Given the description of an element on the screen output the (x, y) to click on. 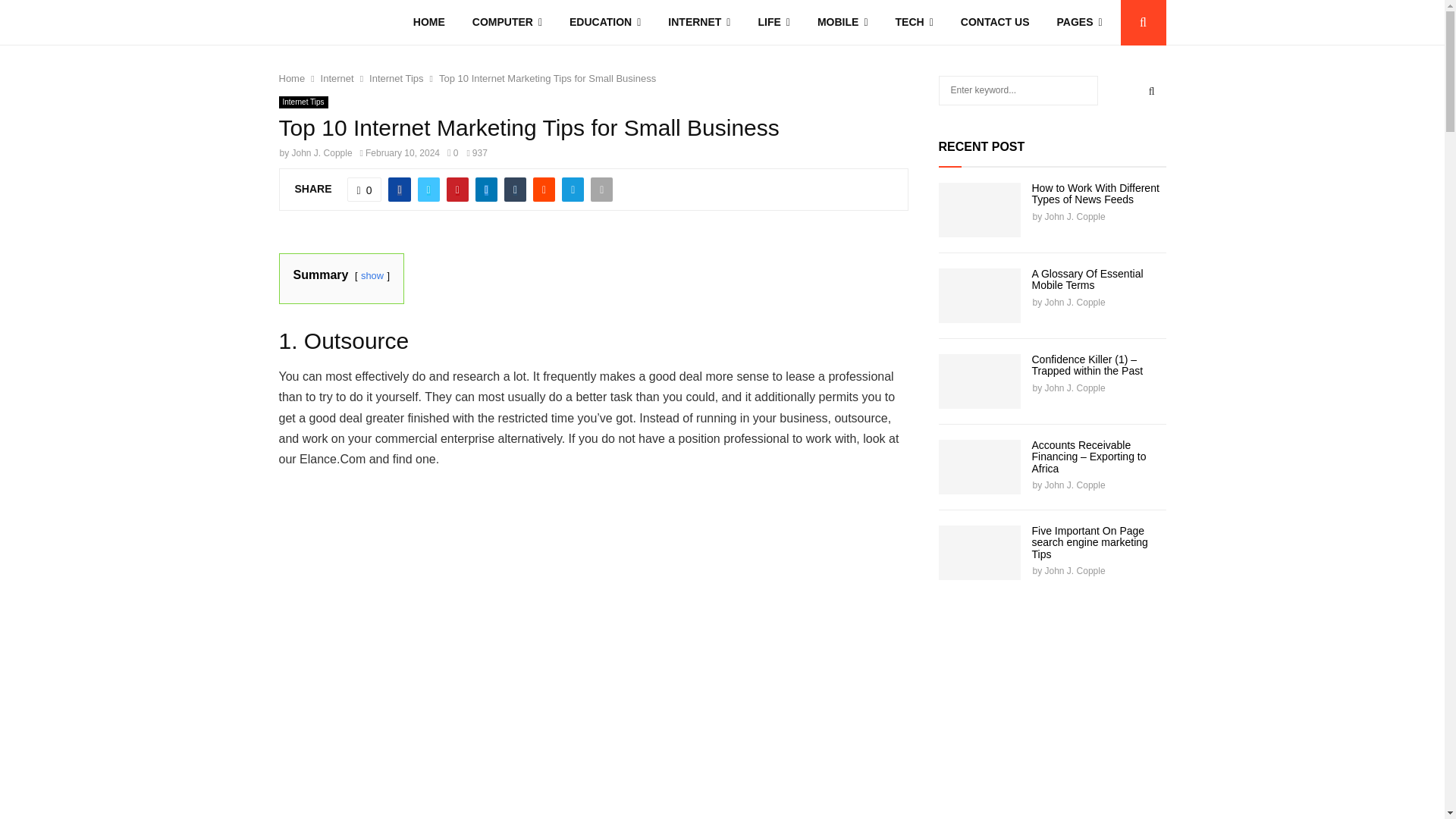
COMPUTER (507, 22)
Like (364, 189)
MOBILE (842, 22)
EDUCATION (604, 22)
INTERNET (698, 22)
LIFE (773, 22)
HOME (428, 22)
